Given the description of an element on the screen output the (x, y) to click on. 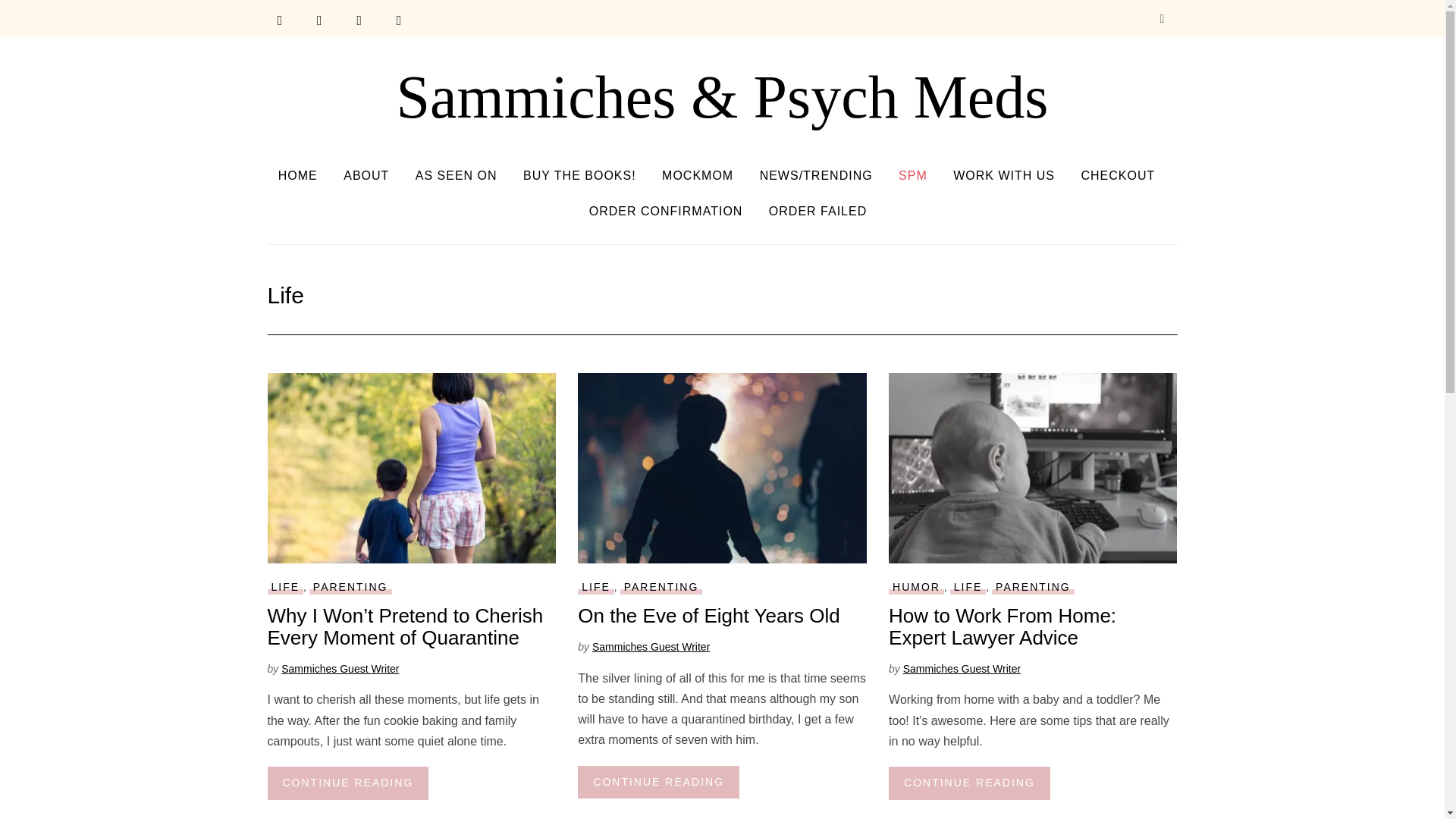
ABOUT (365, 175)
Posts by Sammiches Guest Writer (961, 668)
HOME (297, 175)
Parenting, lifestyle, news commentary, and humor website. (722, 96)
Twitter (320, 19)
Default Label (399, 19)
MOCKMOM (697, 175)
Posts by Sammiches Guest Writer (651, 646)
Permalink to How to Work From Home: Expert Lawyer Advice (968, 783)
AS SEEN ON (455, 175)
